Given the description of an element on the screen output the (x, y) to click on. 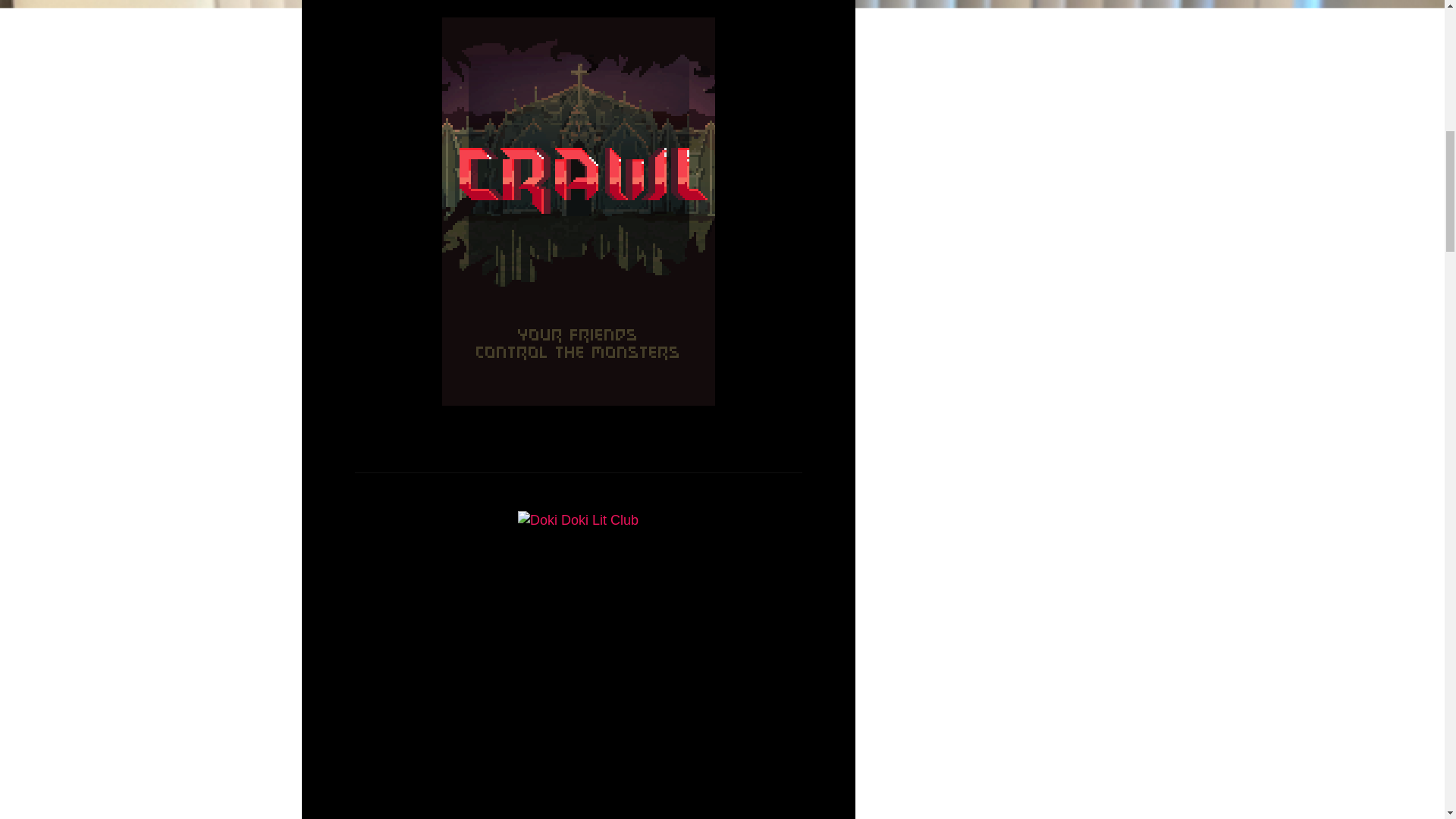
Play in new window (700, 370)
Blubrry Podcast Player (577, 771)
Embed (536, 370)
Blubrry Podcast Player (577, 292)
Download (599, 370)
Play in new window (700, 370)
Embed (536, 370)
March 9, 2024 (641, 600)
Download (599, 370)
READ MORE (578, 390)
